Given the description of an element on the screen output the (x, y) to click on. 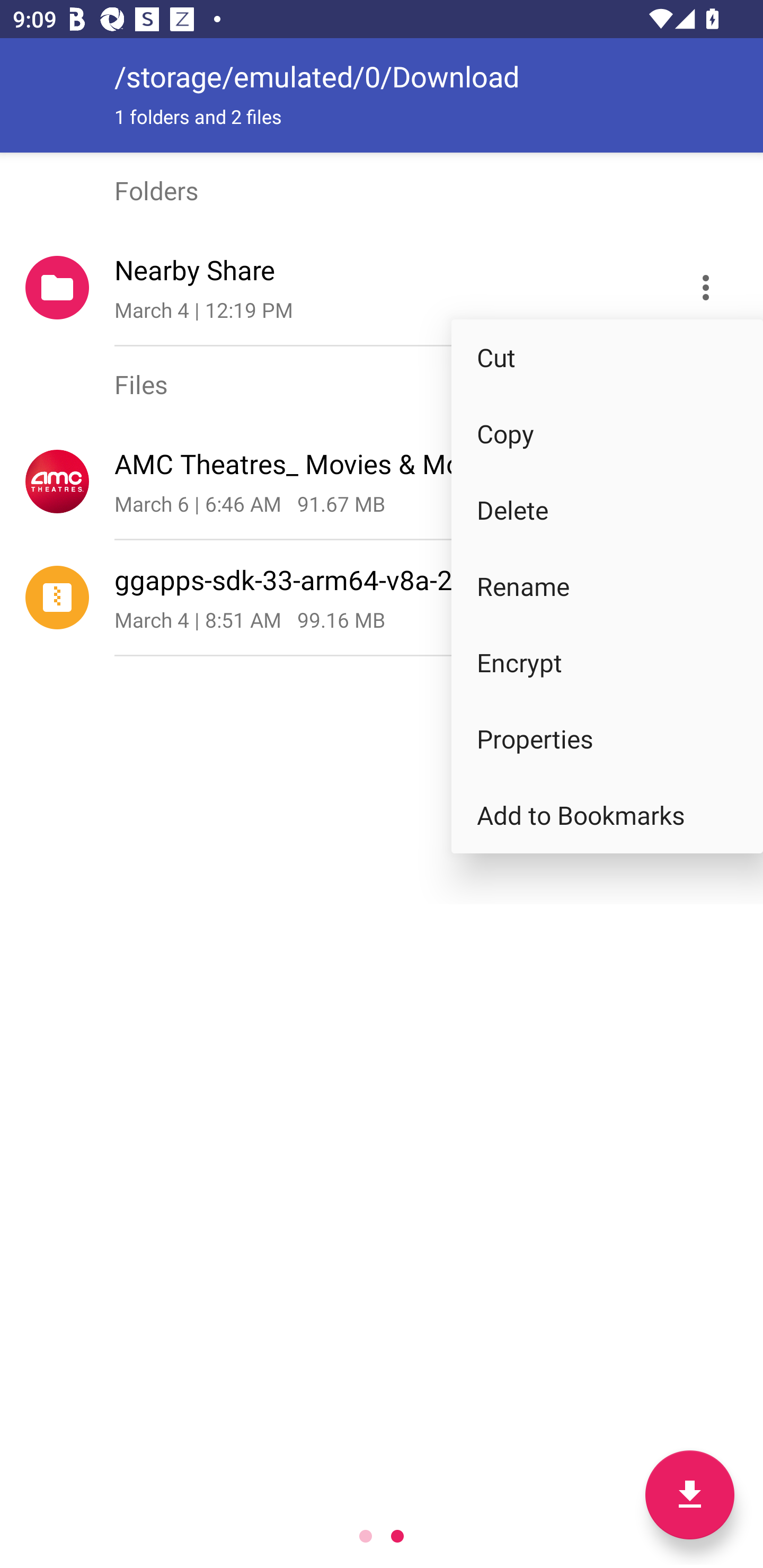
Cut (607, 357)
Copy (607, 433)
Delete (607, 509)
Rename (607, 586)
Encrypt (607, 662)
Properties (607, 738)
Add to Bookmarks (607, 814)
